Given the description of an element on the screen output the (x, y) to click on. 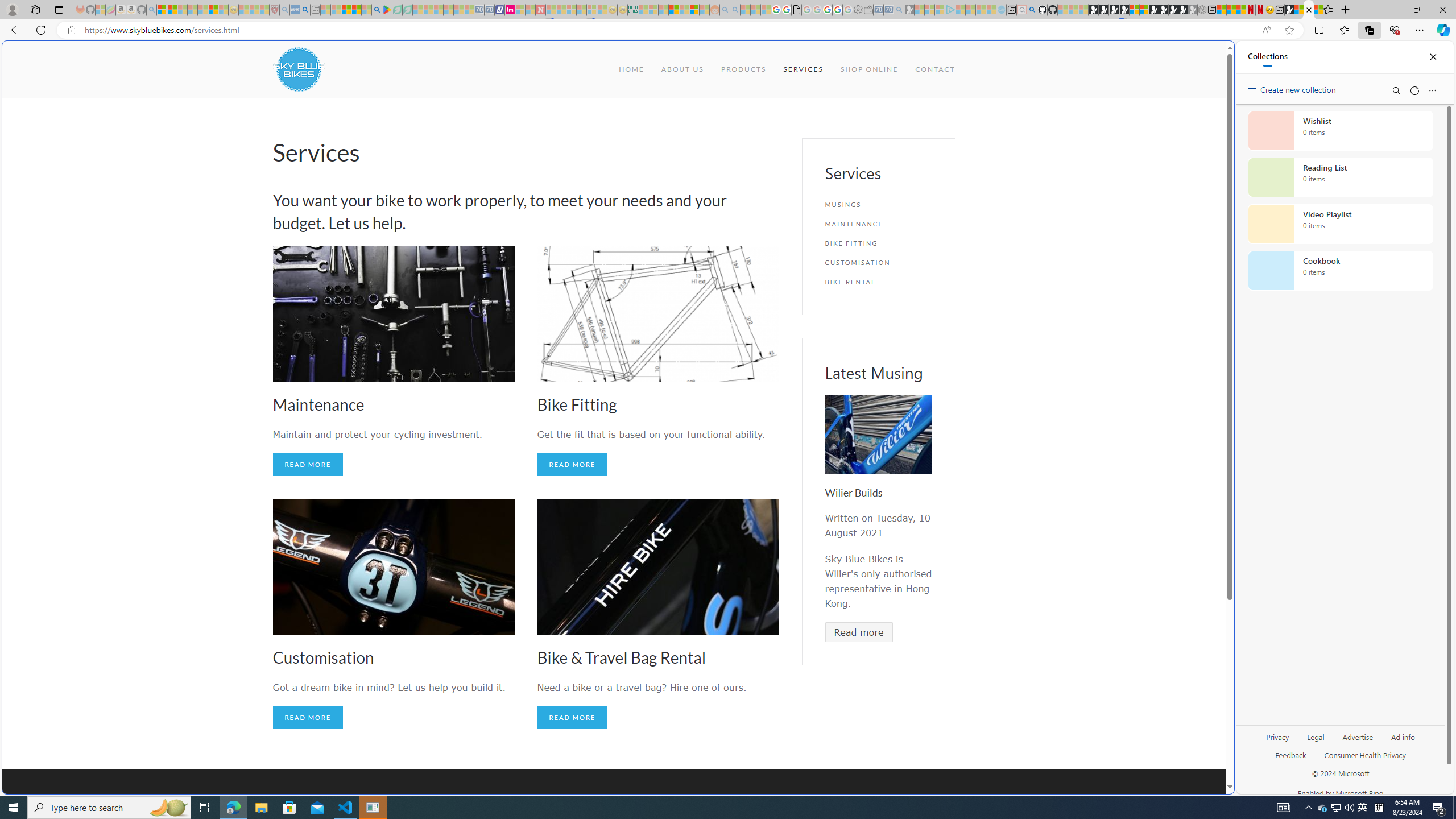
CONTACT (935, 68)
MAINTENANCE (878, 223)
PRODUCTS (742, 68)
BIKE RENTAL (878, 281)
MAINTENANCE (878, 223)
